Given the description of an element on the screen output the (x, y) to click on. 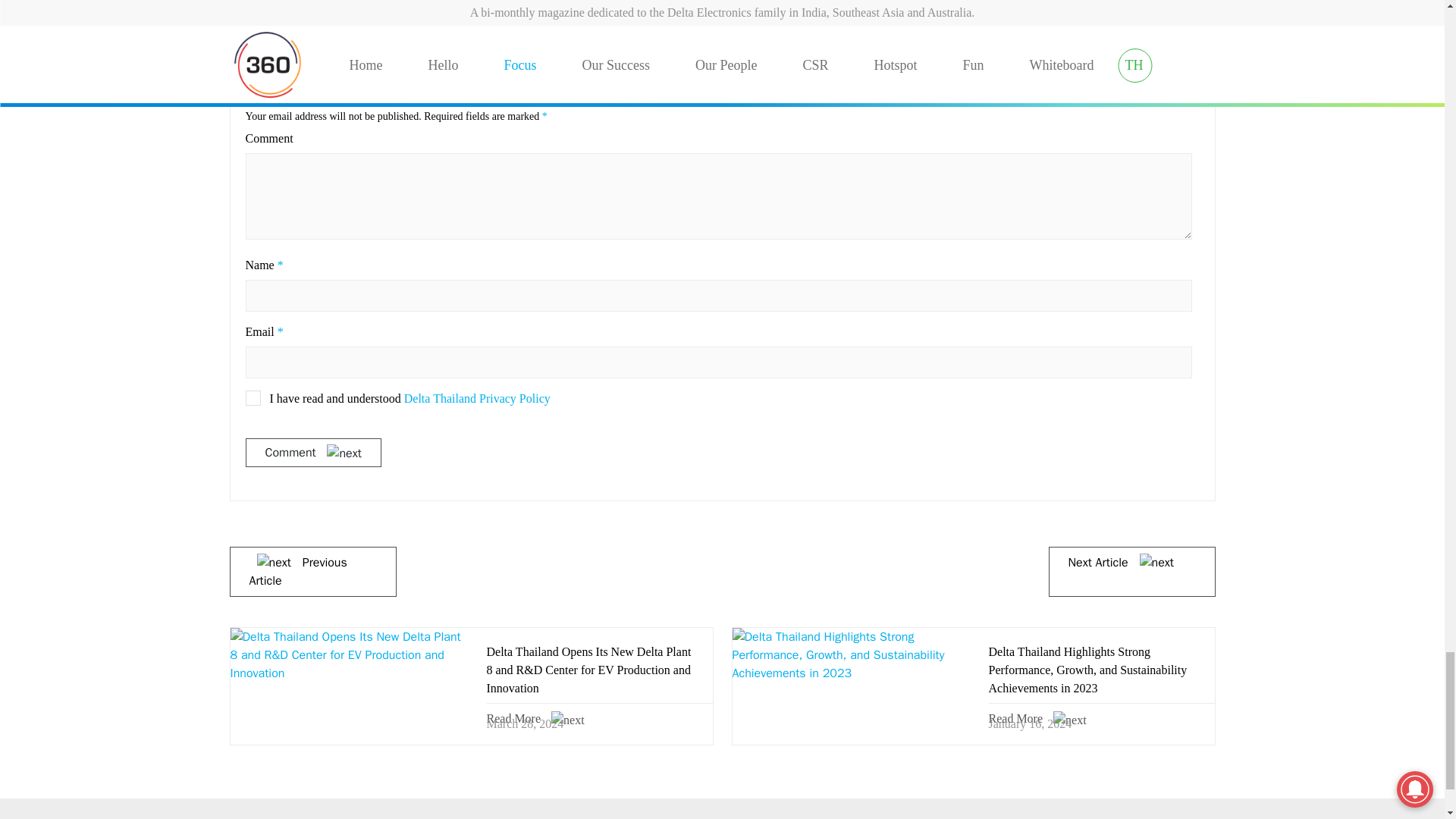
Delta Thailand Privacy Policy (477, 398)
Next Article (1123, 562)
Previous Article (297, 571)
Comment (313, 452)
